Given the description of an element on the screen output the (x, y) to click on. 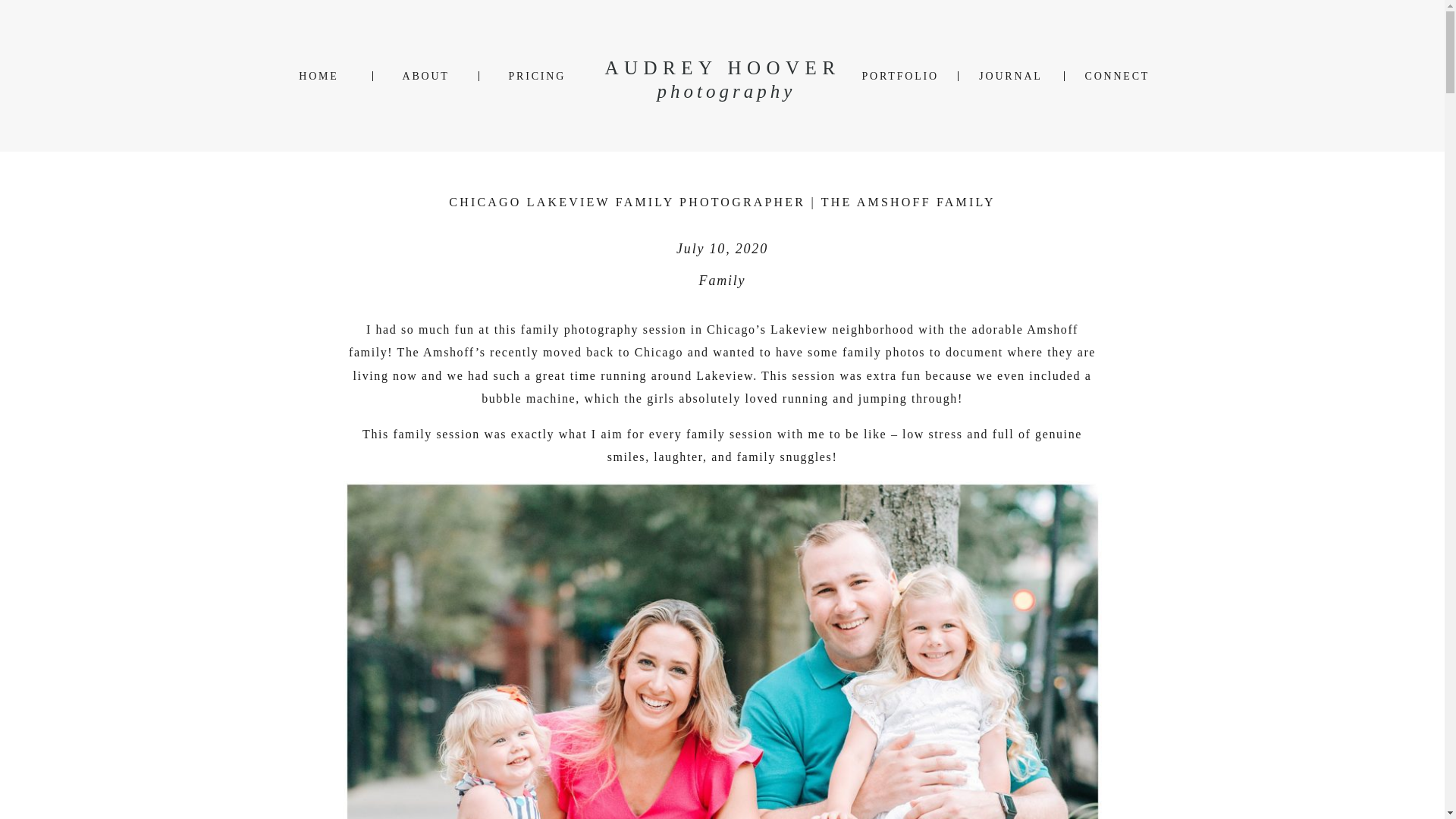
JOURNAL (1010, 75)
CONNECT (1116, 75)
Family (721, 280)
PORTFOLIO (898, 75)
HOME (317, 75)
ABOUT (423, 75)
PRICING (535, 75)
